Given the description of an element on the screen output the (x, y) to click on. 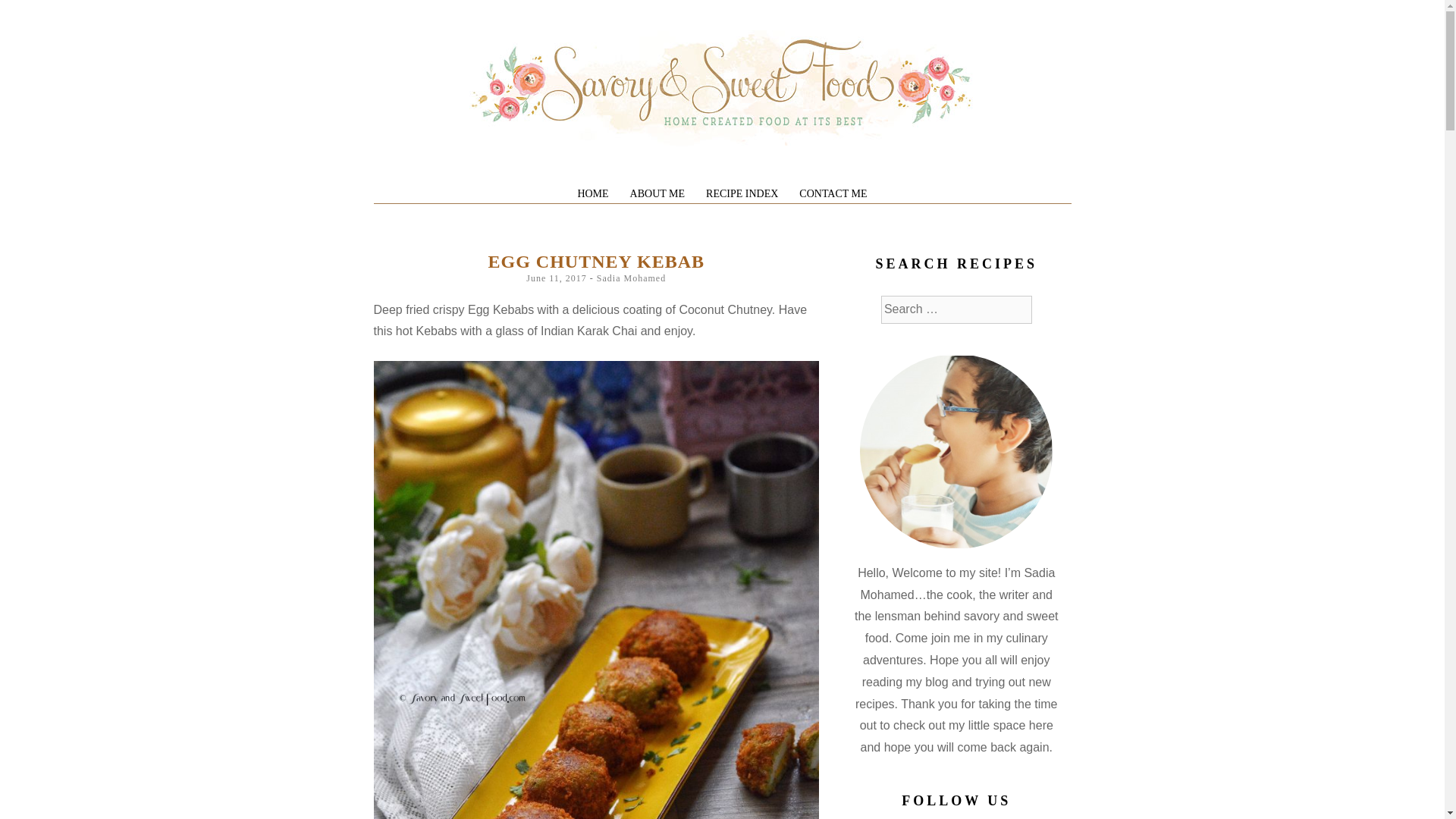
RECIPE INDEX (741, 193)
Sadia Mohamed (630, 277)
CONTACT ME (832, 193)
HOME (592, 193)
June 11, 2017 (555, 277)
ABOUT ME (657, 193)
